Given the description of an element on the screen output the (x, y) to click on. 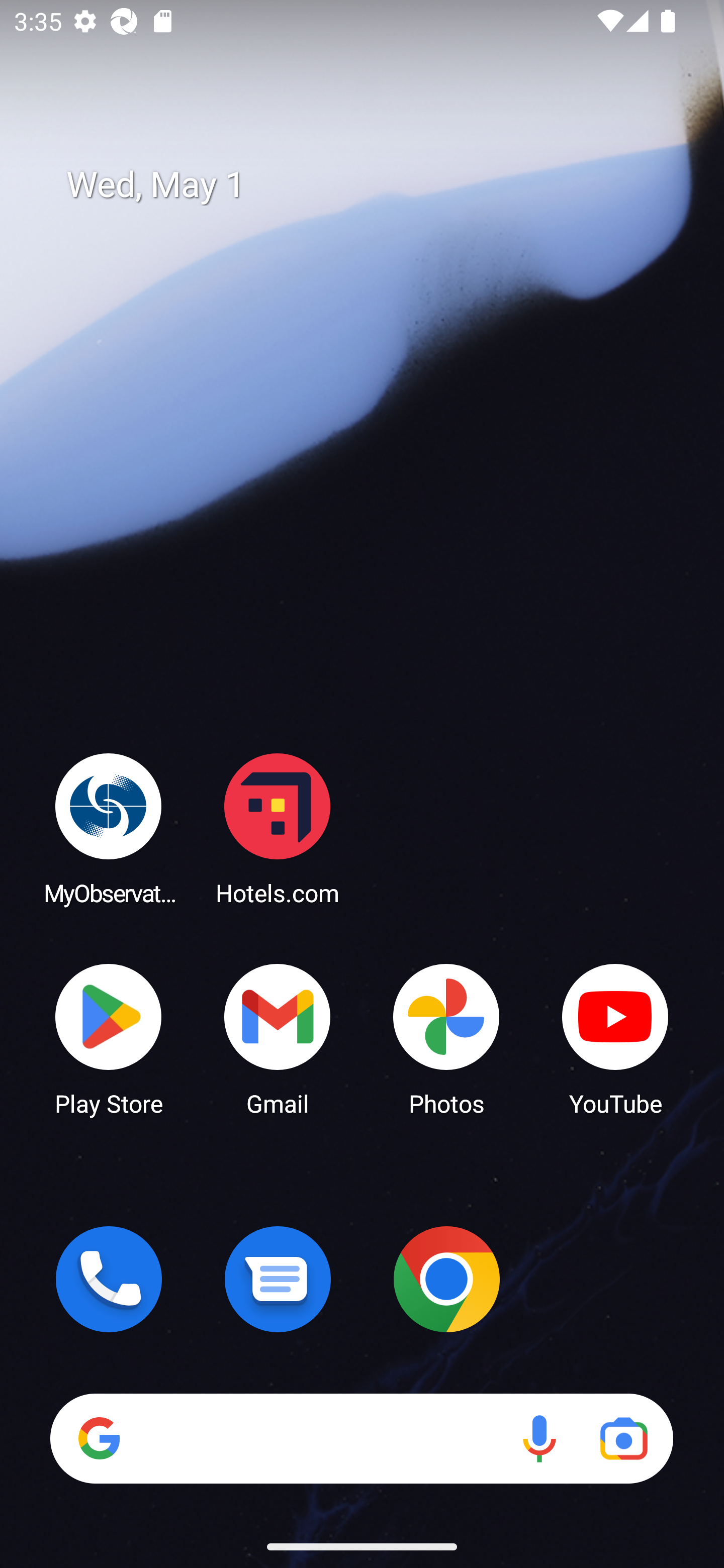
Wed, May 1 (375, 184)
MyObservatory (108, 828)
Hotels.com (277, 828)
Play Store (108, 1038)
Gmail (277, 1038)
Photos (445, 1038)
YouTube (615, 1038)
Phone (108, 1279)
Messages (277, 1279)
Chrome (446, 1279)
Search Voice search Google Lens (361, 1438)
Voice search (539, 1438)
Google Lens (623, 1438)
